Given the description of an element on the screen output the (x, y) to click on. 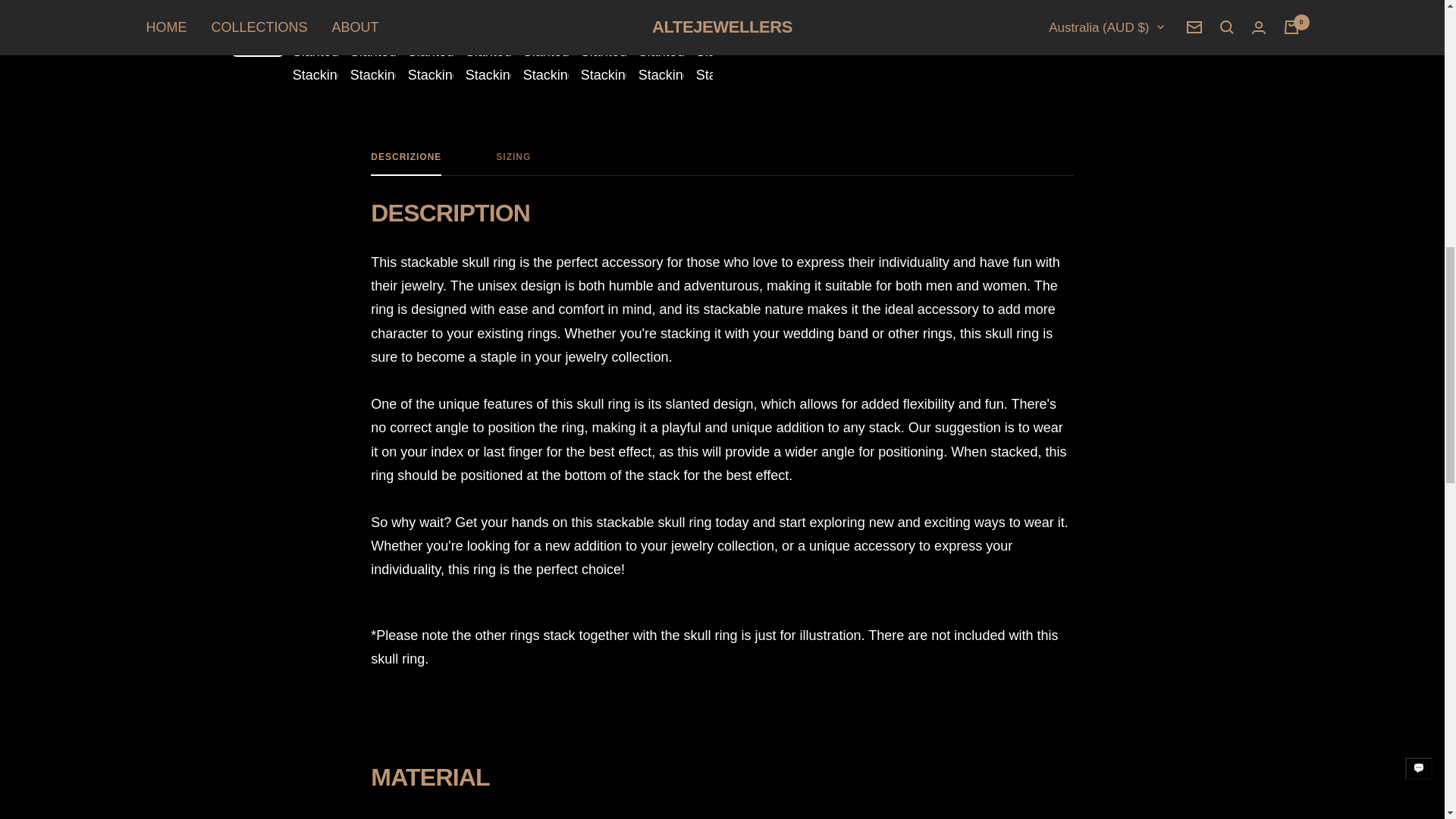
BY (993, 6)
BA (722, 163)
BO (722, 163)
